Given the description of an element on the screen output the (x, y) to click on. 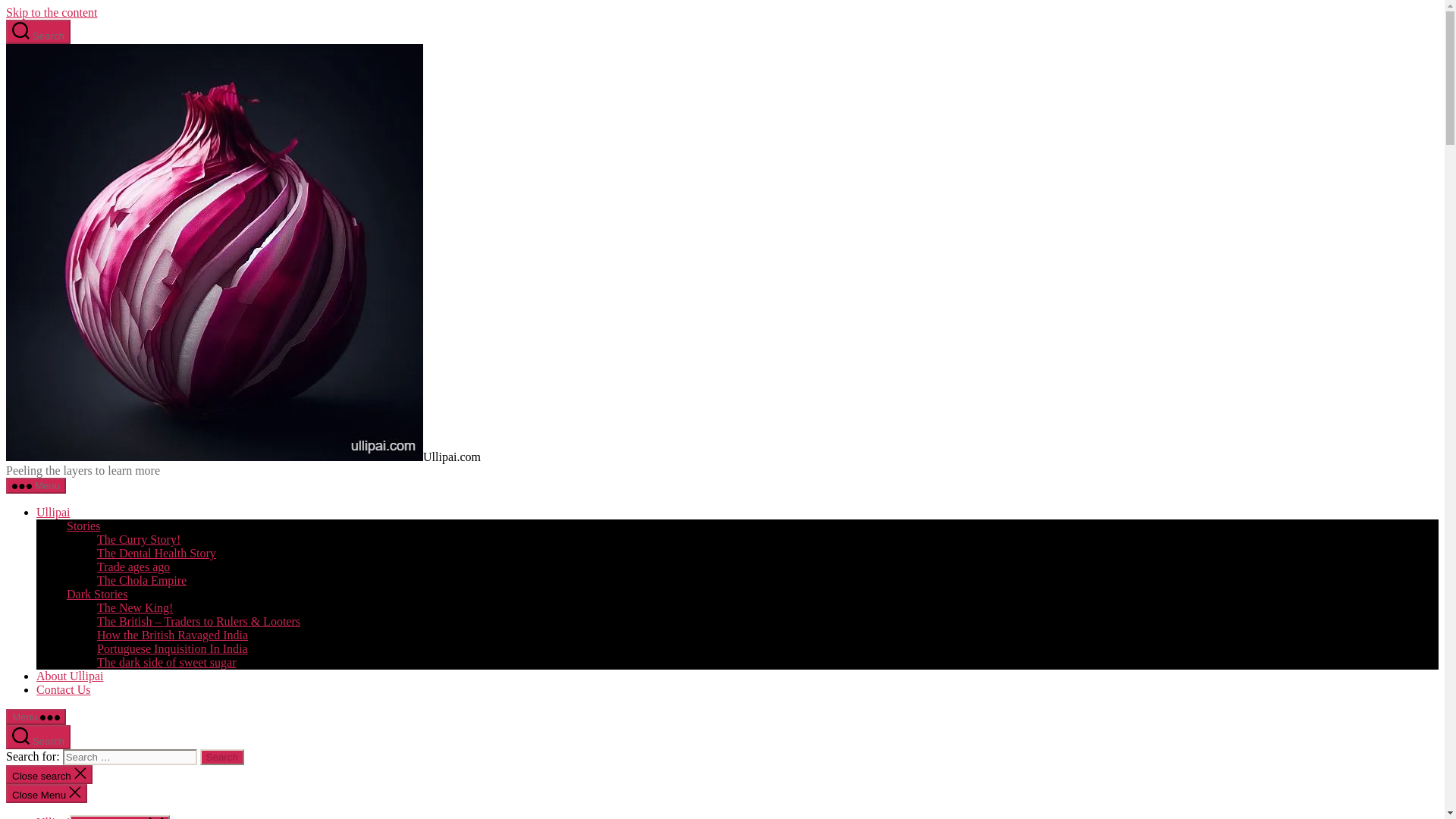
How the British Ravaged India (172, 634)
Trade ages ago (133, 566)
Close search (49, 773)
The Curry Story! (138, 539)
Portuguese Inquisition In India (172, 648)
The New King! (135, 607)
The dark side of sweet sugar (166, 662)
Ullipai (52, 817)
Stories (83, 525)
Search (222, 756)
